Given the description of an element on the screen output the (x, y) to click on. 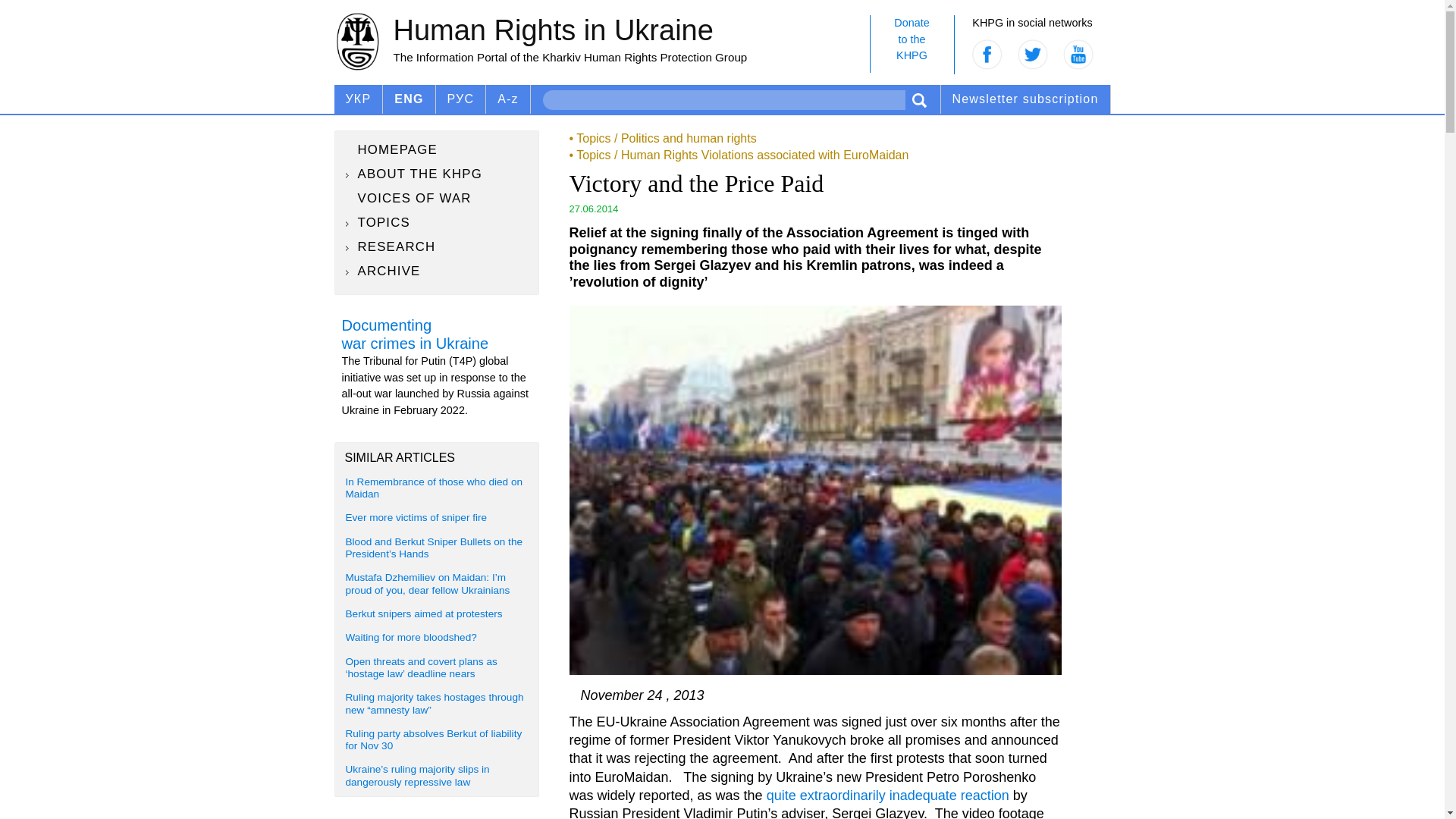
TOPICS (437, 222)
Newsletter subscription (1024, 99)
VOICES OF WAR (437, 198)
ABOUT THE KHPG (437, 174)
HOMEPAGE (437, 149)
A-z (911, 43)
